Given the description of an element on the screen output the (x, y) to click on. 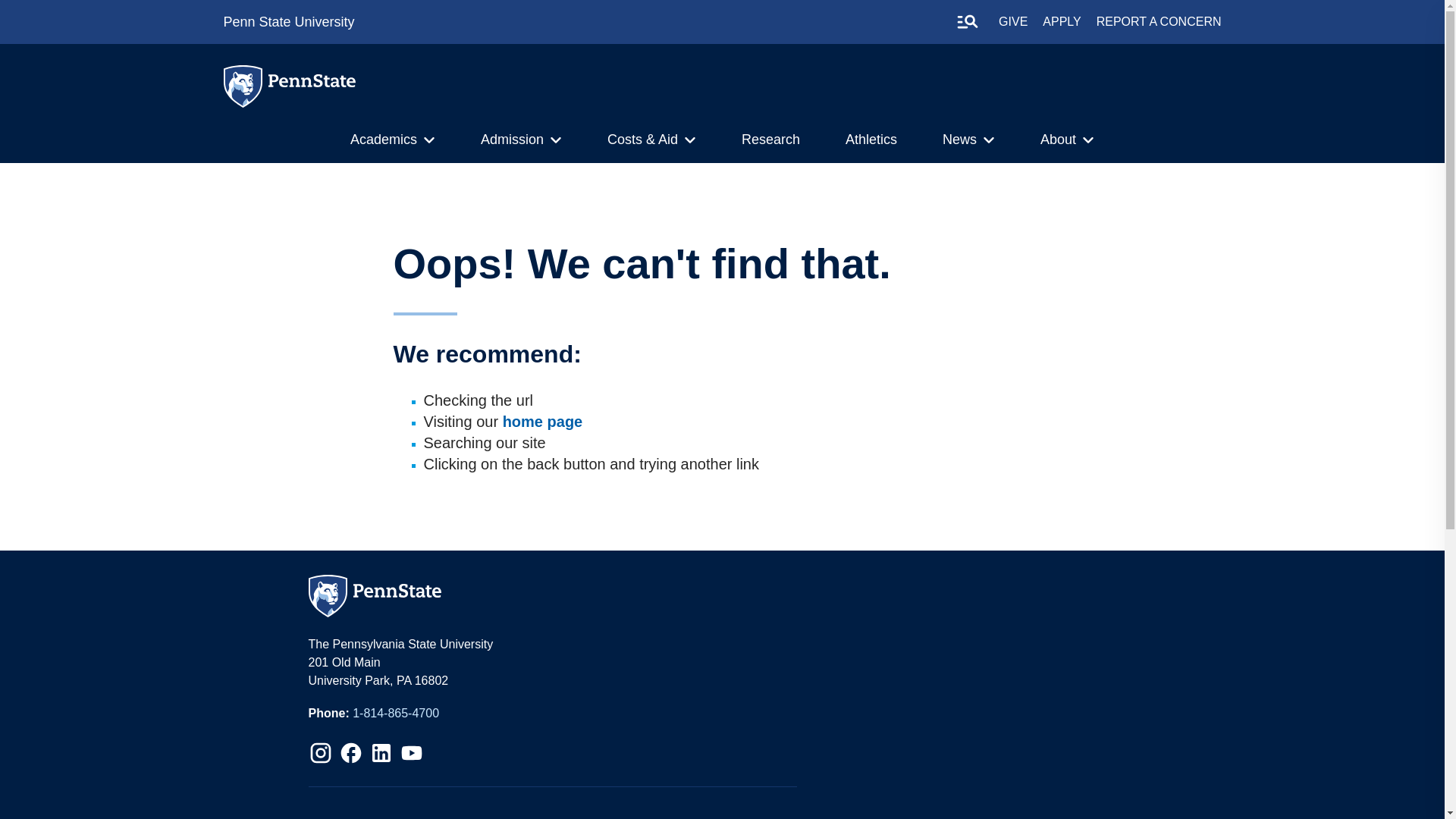
Penn State University (287, 21)
GIVE (1012, 21)
REPORT A CONCERN (1158, 21)
Nittany Lion Shield Penn State Mark (242, 86)
Academics (383, 139)
APPLY (1061, 21)
Nittany Lion Shield Penn State Mark (244, 87)
Admission (511, 139)
